Given the description of an element on the screen output the (x, y) to click on. 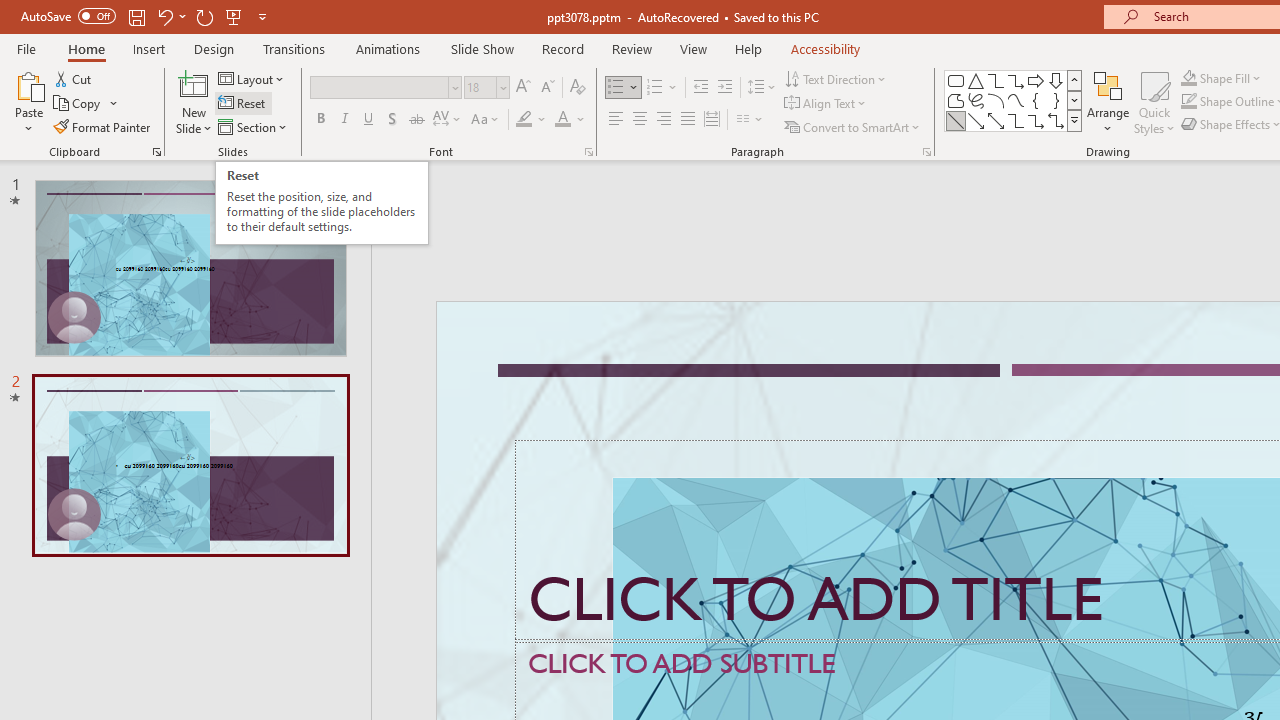
Paste (28, 84)
Curve (1016, 100)
Font (379, 87)
Distributed (712, 119)
Text Highlight Color Yellow (524, 119)
Font (385, 87)
Align Right (663, 119)
Freeform: Shape (955, 100)
Align Left (616, 119)
